Given the description of an element on the screen output the (x, y) to click on. 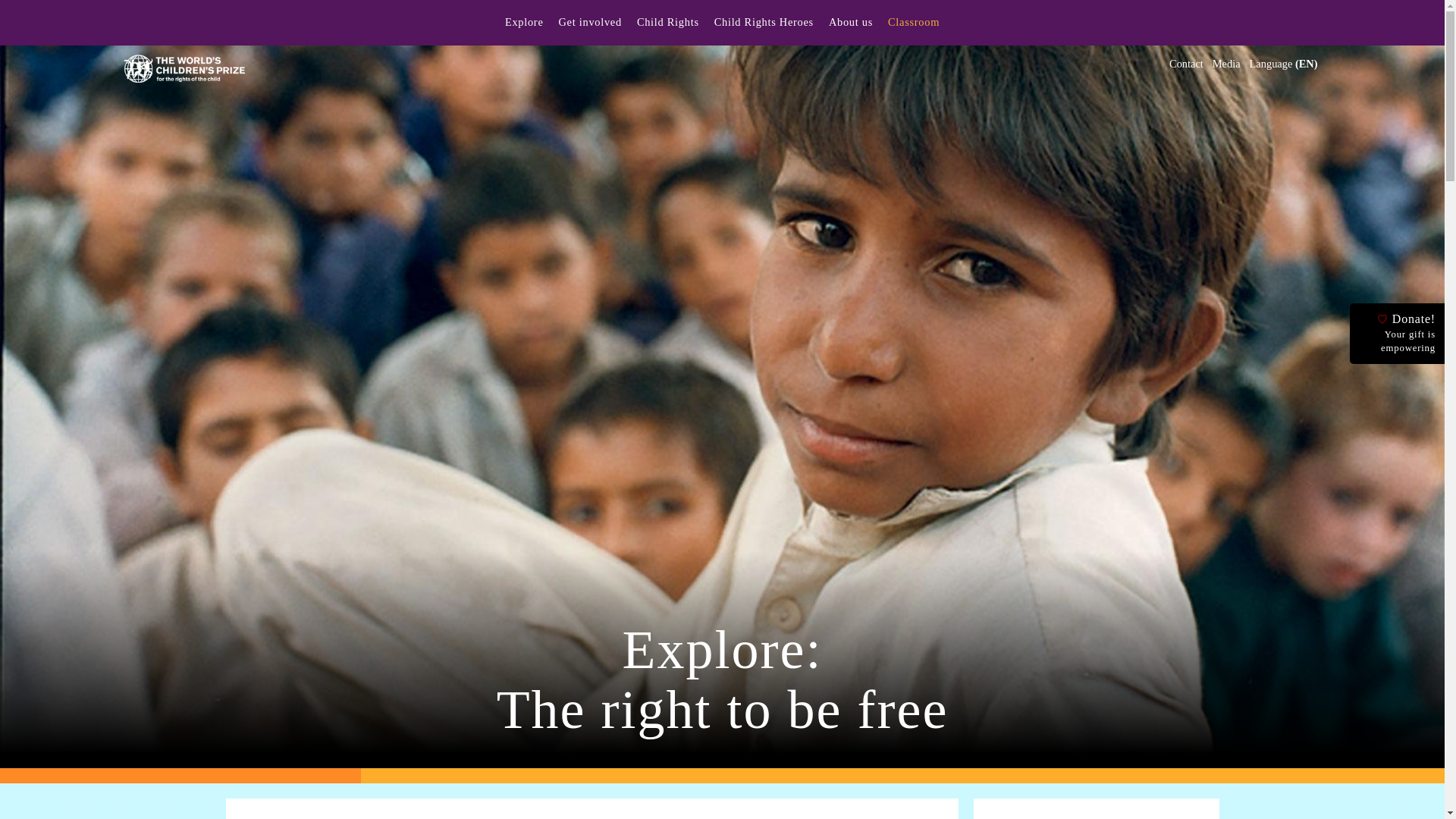
Classroom (913, 23)
Child Rights (667, 23)
Explore (524, 23)
Child Rights Heroes (763, 23)
Get involved (589, 23)
About us (850, 23)
Media (1226, 63)
Contact (1186, 63)
